Given the description of an element on the screen output the (x, y) to click on. 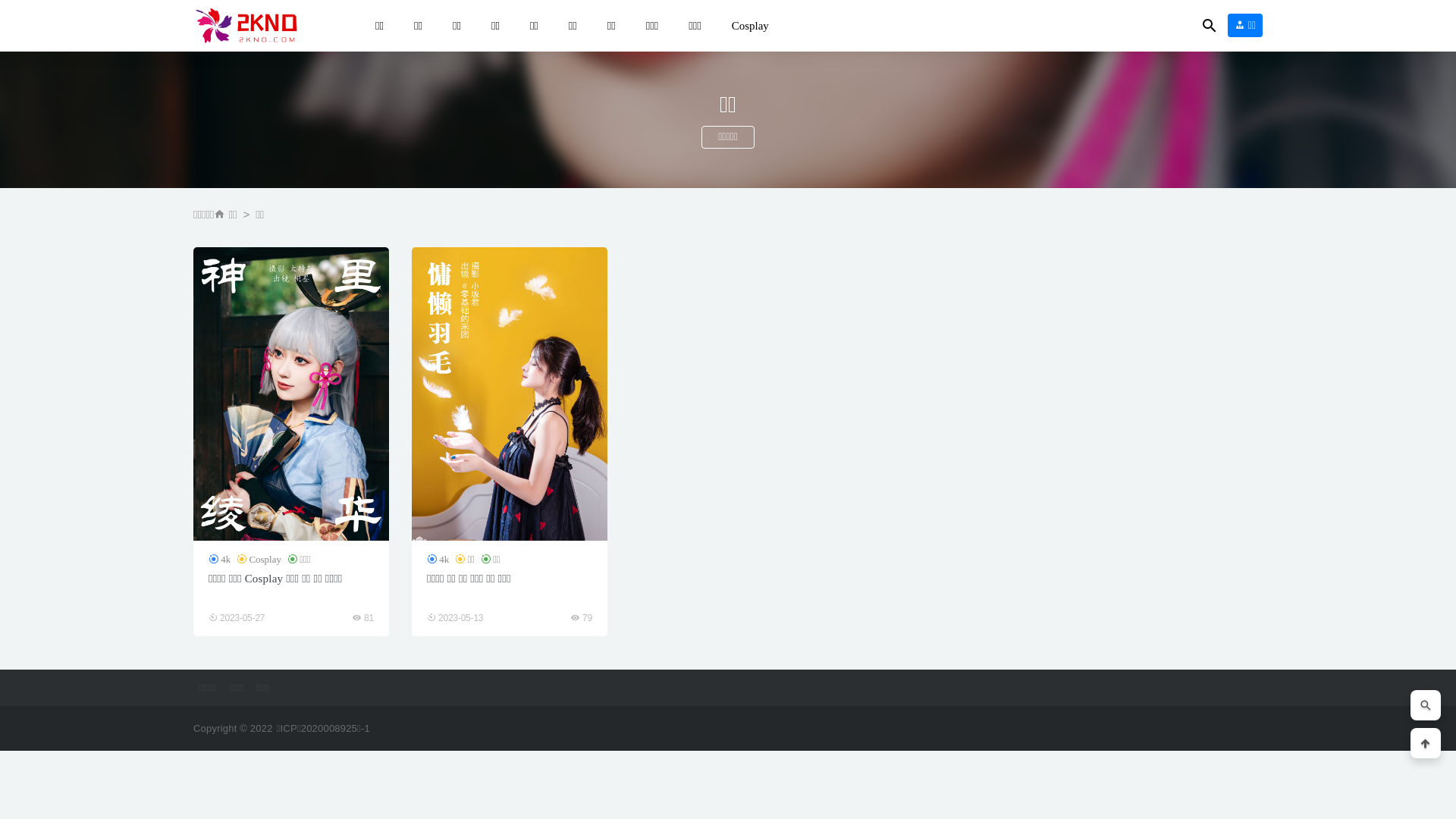
Cosplay Element type: text (258, 558)
Cosplay Element type: text (750, 25)
4k Element type: text (219, 558)
4k Element type: text (437, 558)
